Given the description of an element on the screen output the (x, y) to click on. 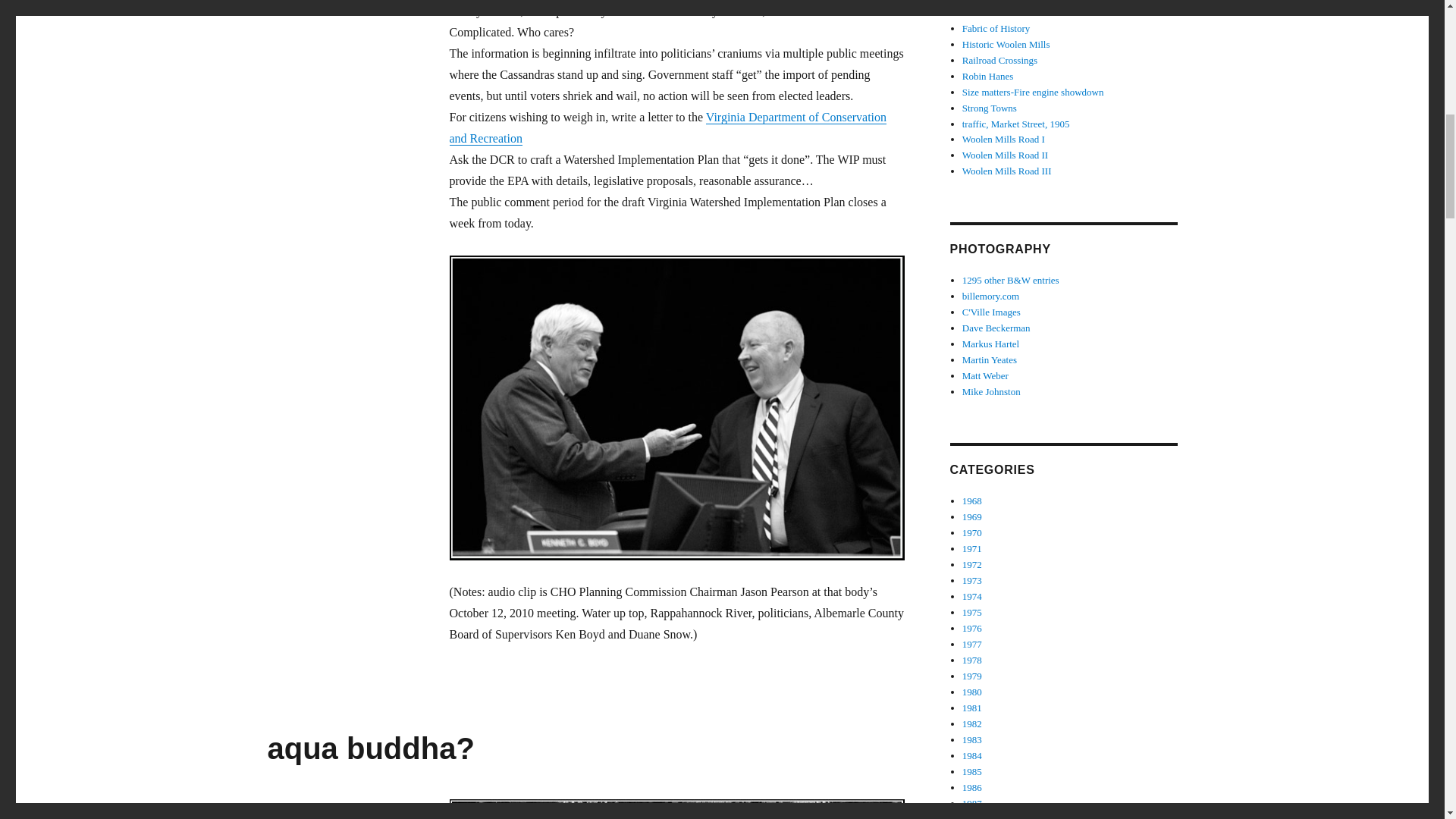
aqua buddha? (370, 748)
Virginia Department of Conservation and Recreation (667, 127)
